Given the description of an element on the screen output the (x, y) to click on. 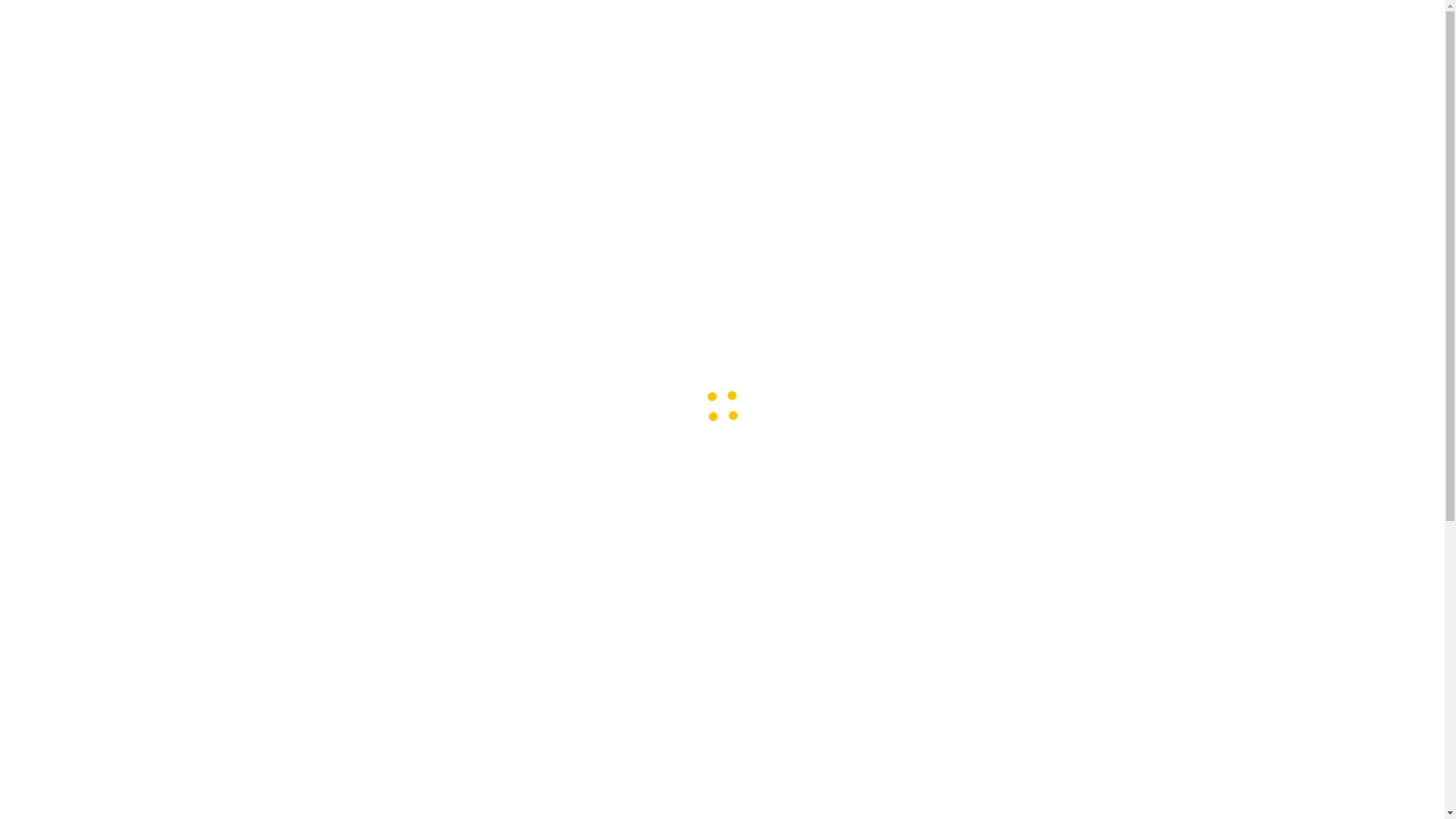
Click here to start the conversation Element type: text (827, 591)
hello@houndconsulting.com.au Element type: text (114, 645)
Privacy Policy Element type: text (1005, 784)
+61 (0)404 040257 Element type: text (78, 602)
